Given the description of an element on the screen output the (x, y) to click on. 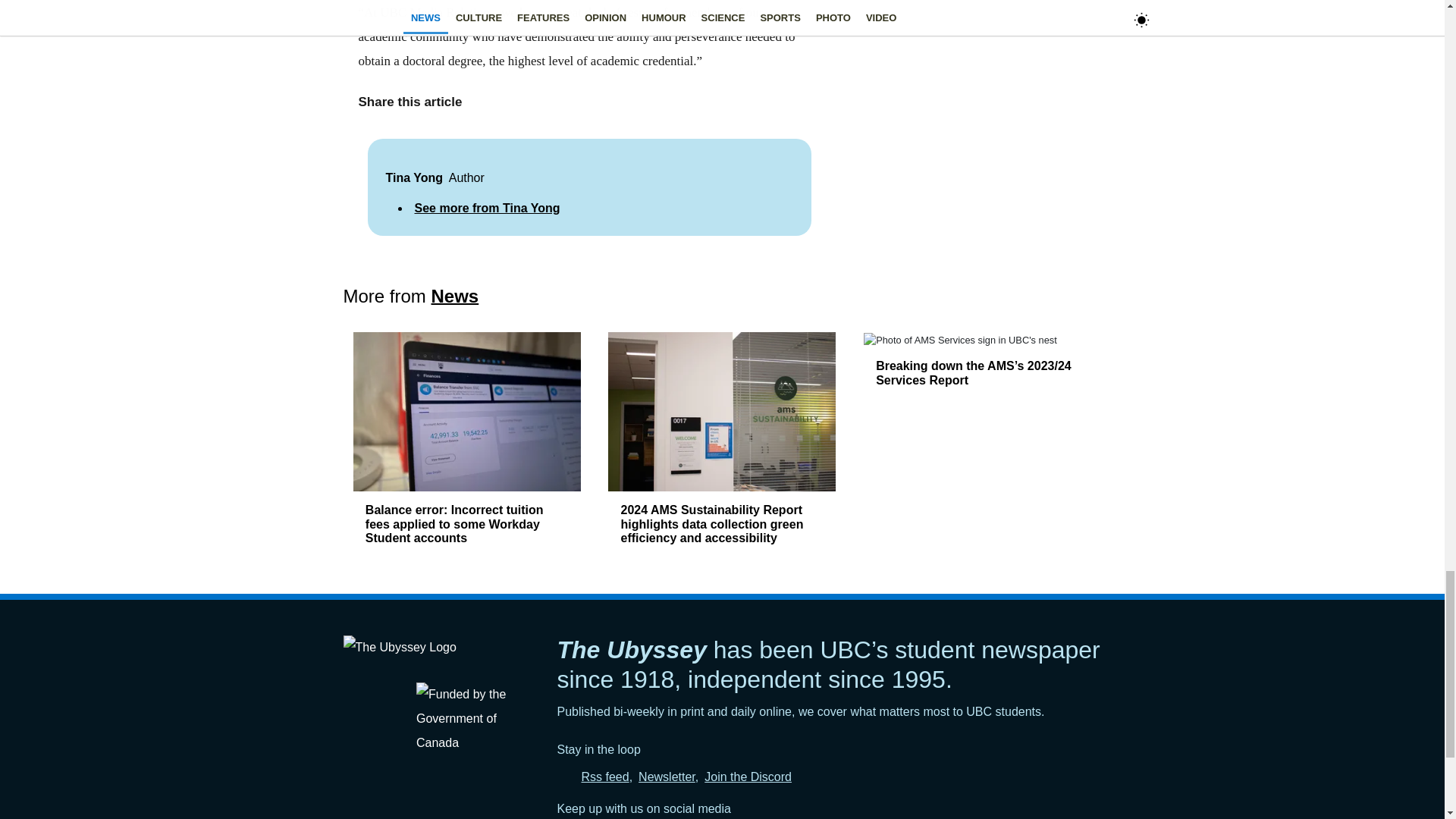
Discord link (748, 776)
Newsletter (667, 776)
Rss feed (604, 776)
Tina Yong (413, 177)
